Given the description of an element on the screen output the (x, y) to click on. 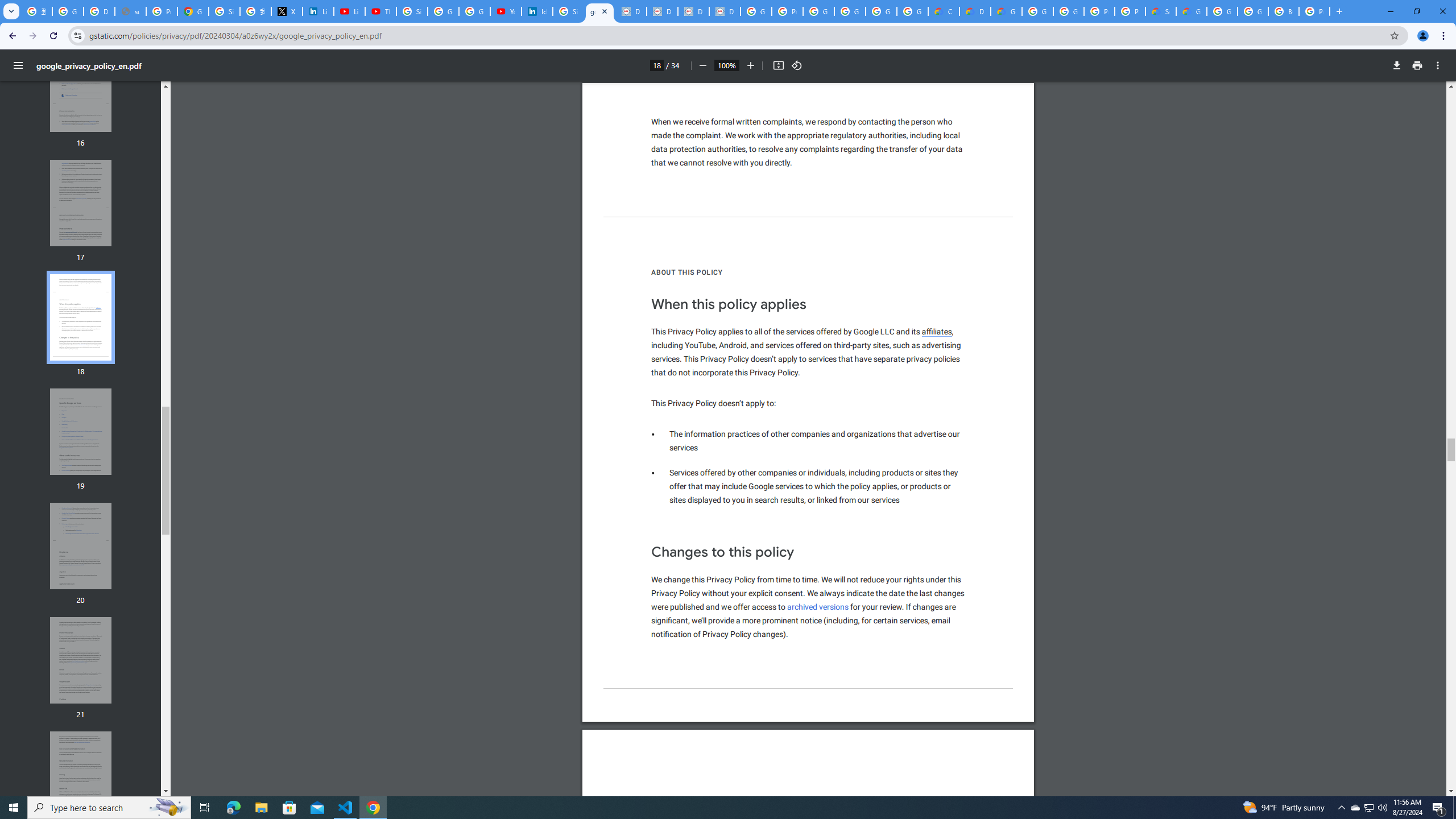
Customer Care | Google Cloud (943, 11)
Zoom out (702, 65)
Fit to page (777, 65)
Thumbnail for page 21 (80, 660)
affiliates (936, 331)
X (286, 11)
Google Cloud Platform (1252, 11)
Privacy Help Center - Policies Help (161, 11)
Gemini for Business and Developers | Google Cloud (1005, 11)
